Given the description of an element on the screen output the (x, y) to click on. 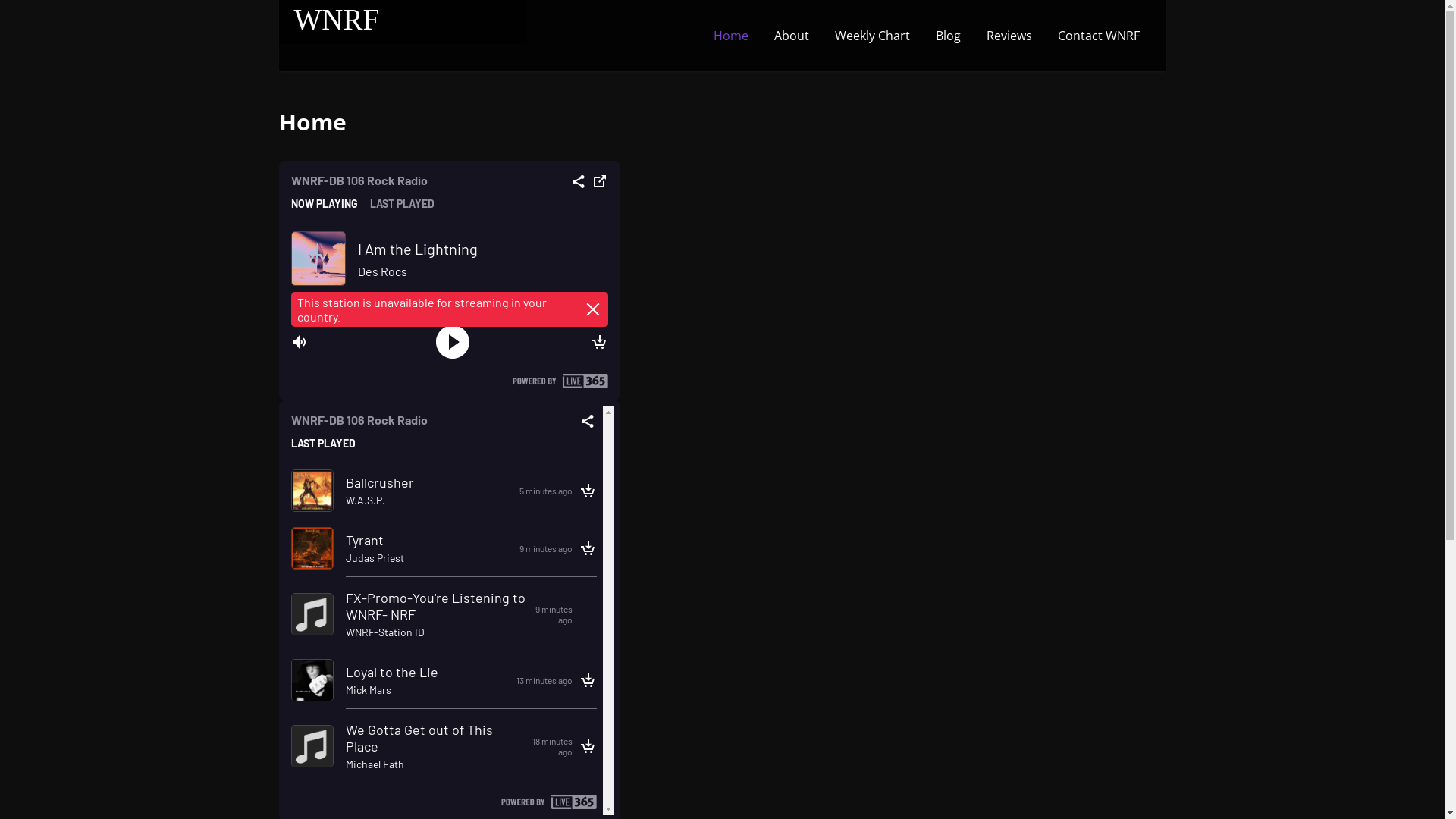
Weekly Chart Element type: text (872, 35)
Blog Element type: text (947, 35)
About Element type: text (791, 35)
WNRF Element type: text (336, 19)
Home Element type: text (730, 35)
Contact WNRF Element type: text (1098, 35)
Reviews Element type: text (1009, 35)
